Given the description of an element on the screen output the (x, y) to click on. 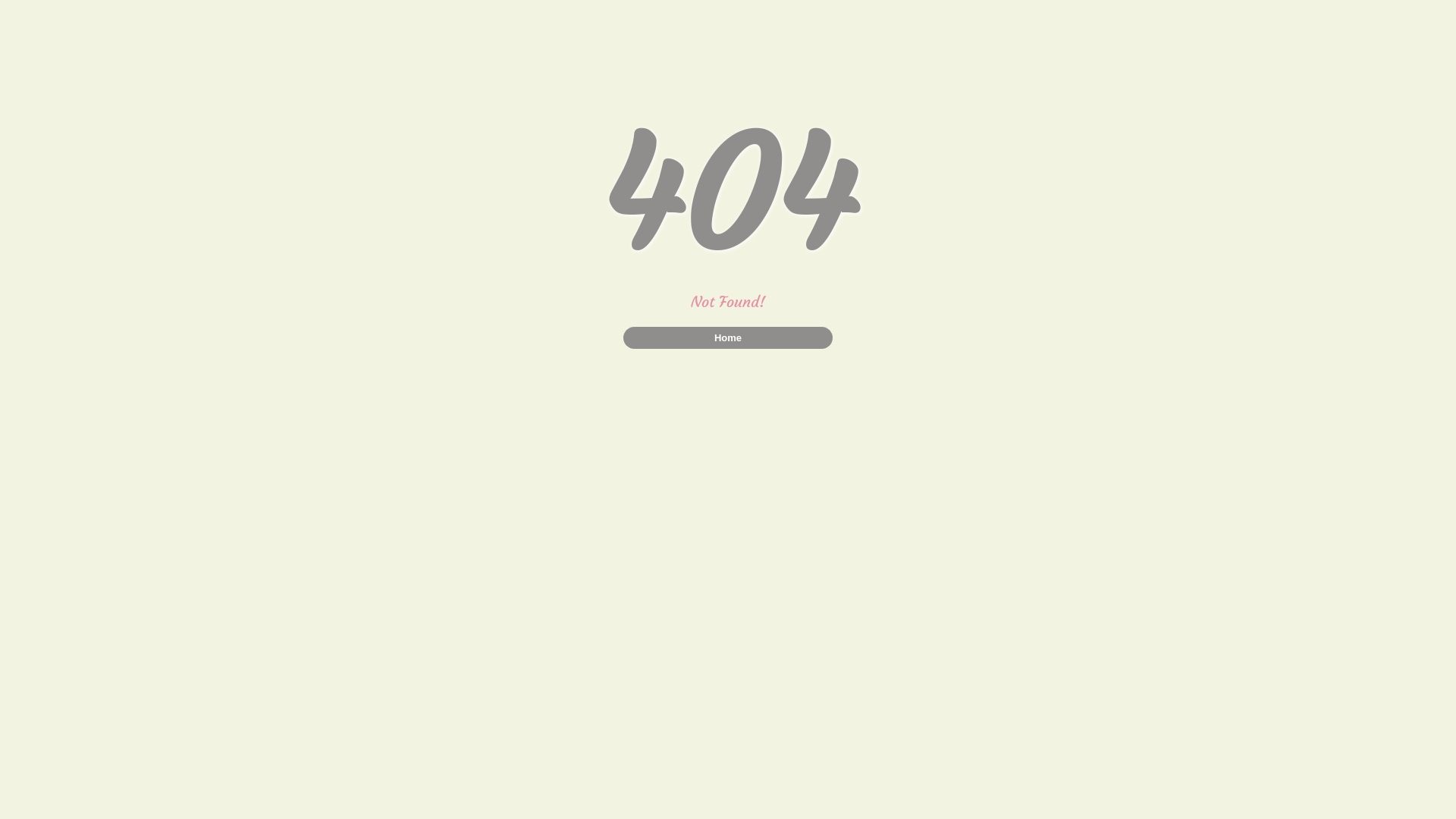
Home Element type: text (727, 337)
